Given the description of an element on the screen output the (x, y) to click on. 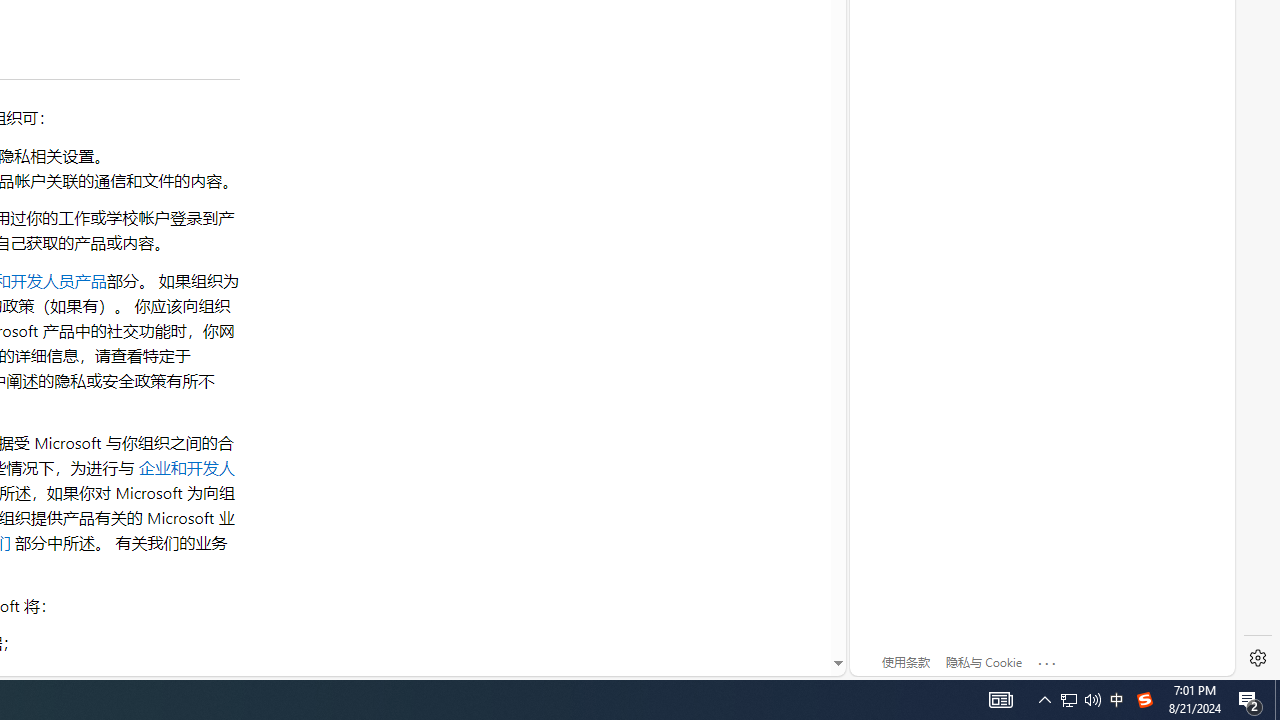
Q2790: 100% (1092, 699)
AutomationID: 4105 (1000, 699)
Action Center, 2 new notifications (1250, 699)
Show desktop (1277, 699)
User Promoted Notification Area (1080, 699)
Tray Input Indicator - Chinese (Simplified, China) (1069, 699)
Notification Chevron (1144, 699)
